Given the description of an element on the screen output the (x, y) to click on. 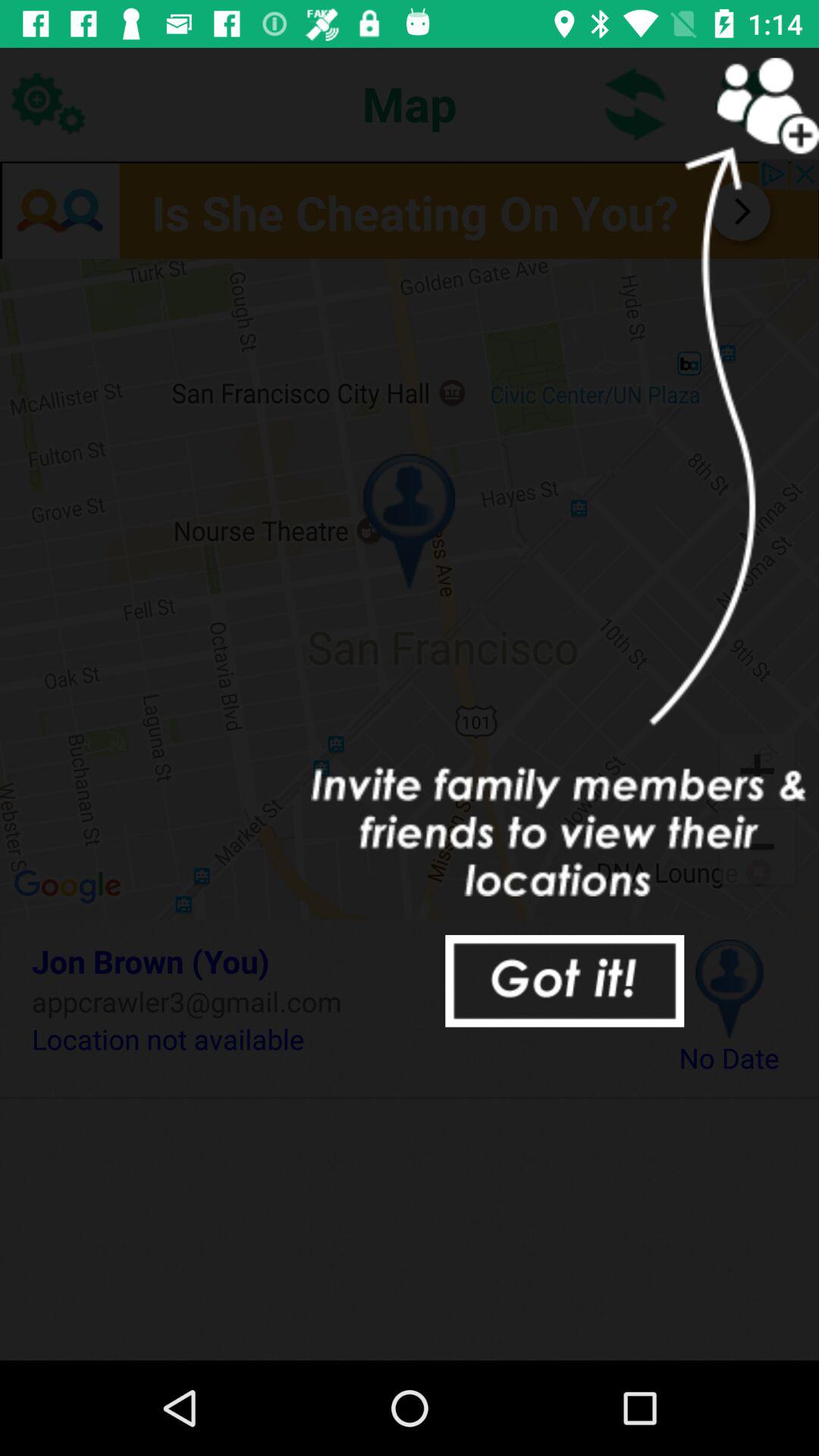
swipe to the jon brown (you) (332, 960)
